Given the description of an element on the screen output the (x, y) to click on. 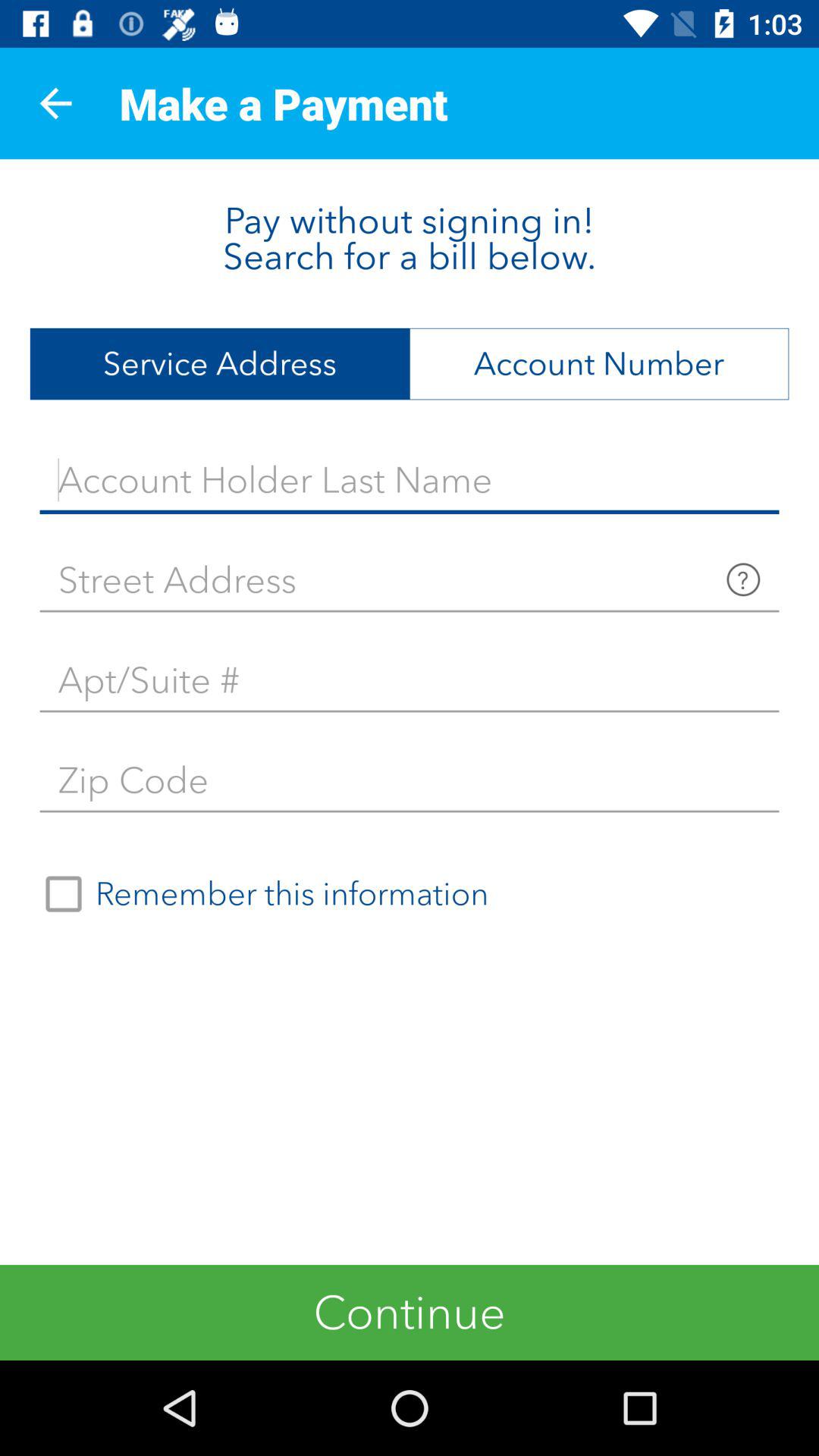
turn on the icon below the service address item (409, 479)
